Given the description of an element on the screen output the (x, y) to click on. 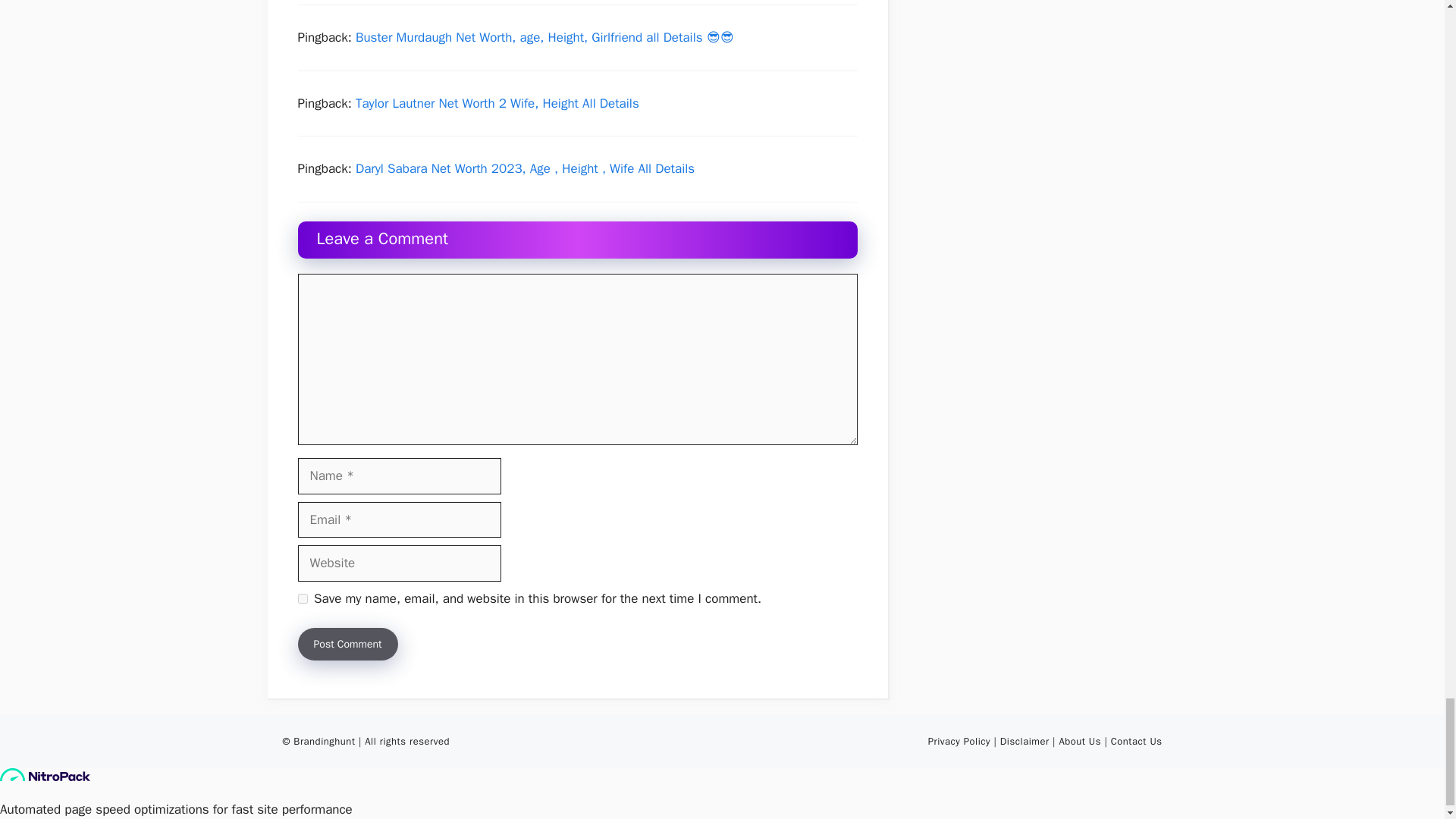
yes (302, 598)
Post Comment (347, 644)
